Given the description of an element on the screen output the (x, y) to click on. 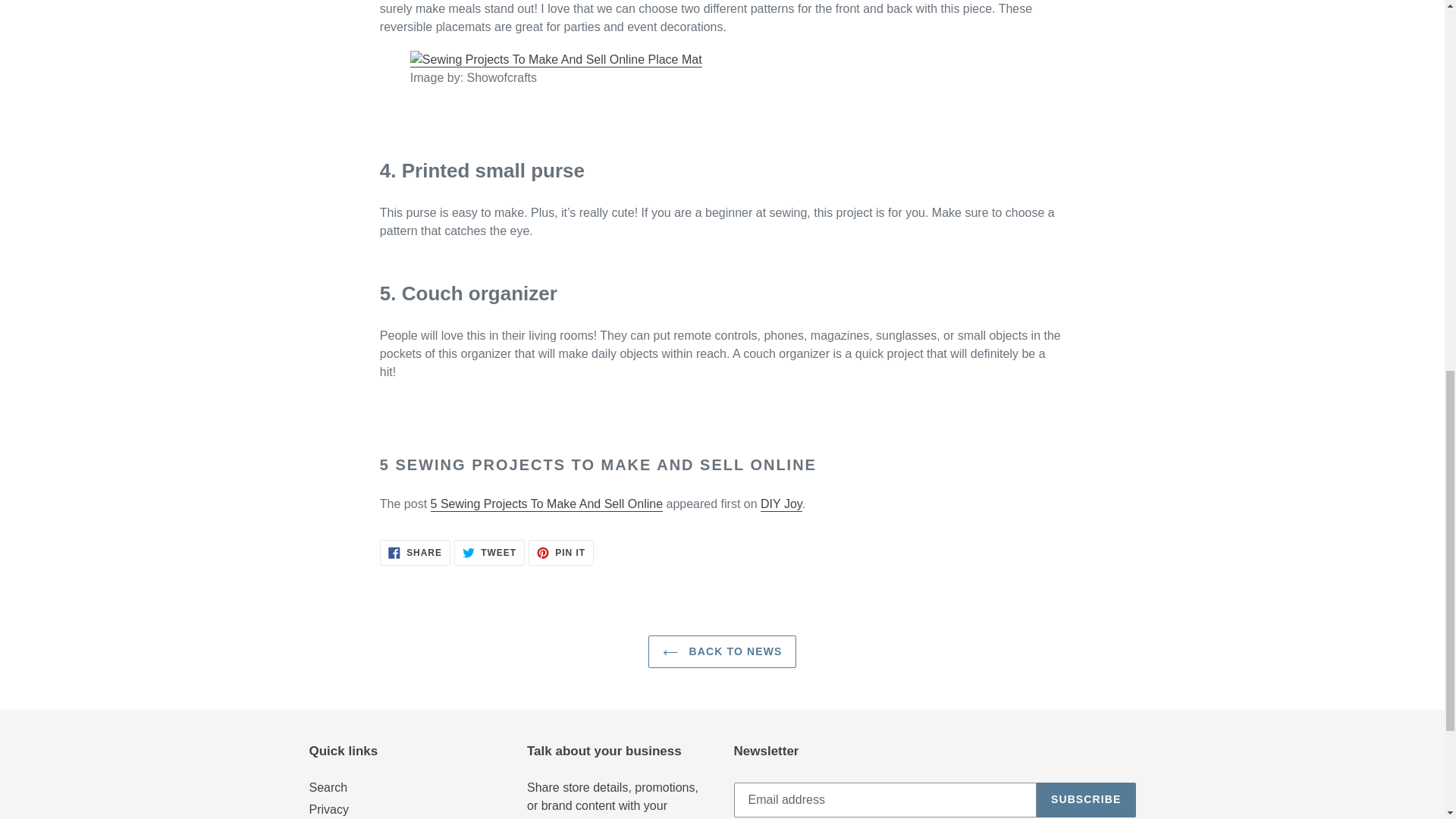
DIY Joy (561, 552)
Privacy (781, 504)
Search (328, 809)
5 Sewing Projects To Make And Sell Online (489, 552)
BACK TO NEWS (327, 787)
SUBSCRIBE (414, 552)
